Given the description of an element on the screen output the (x, y) to click on. 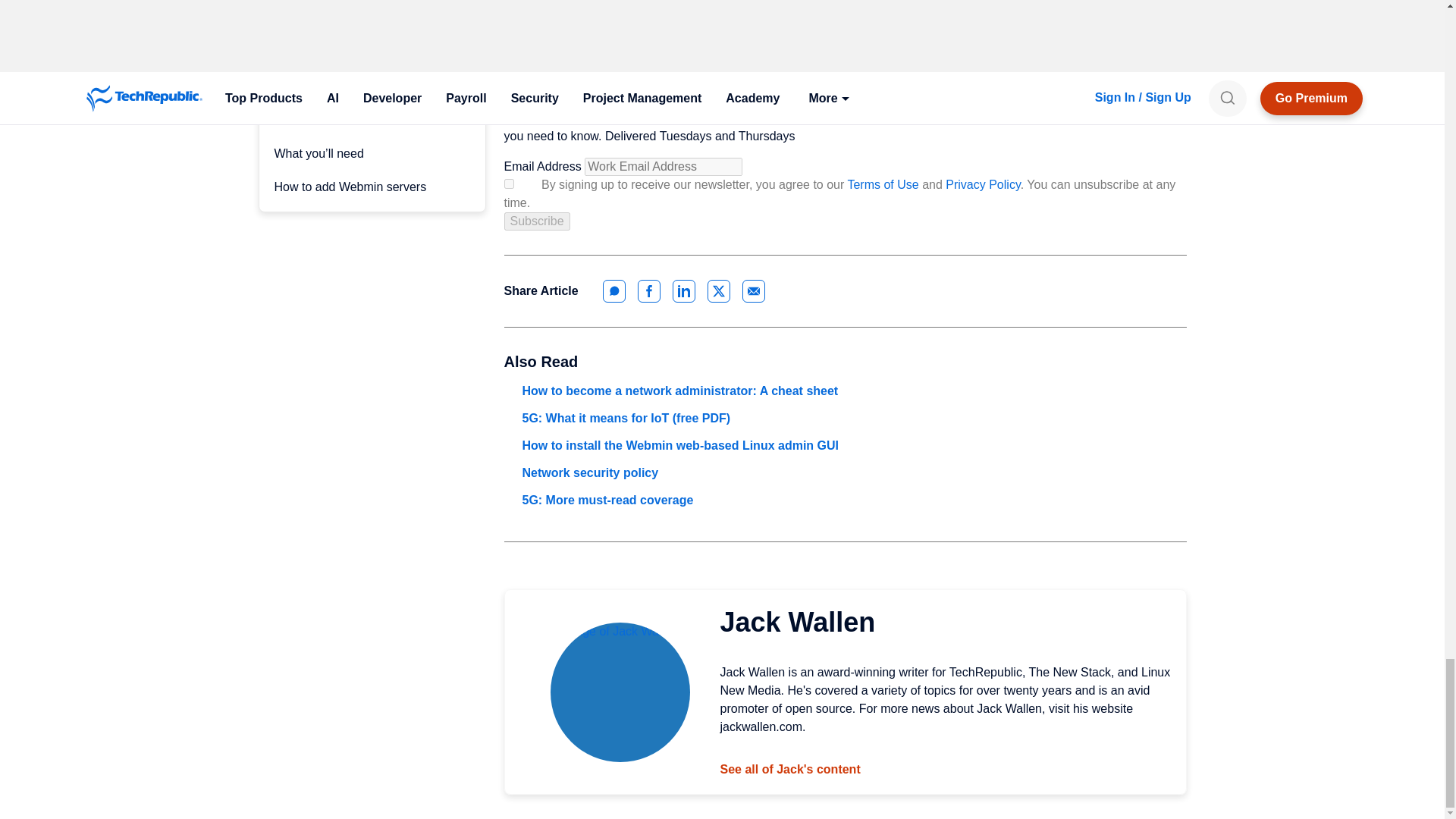
on (508, 184)
